Given the description of an element on the screen output the (x, y) to click on. 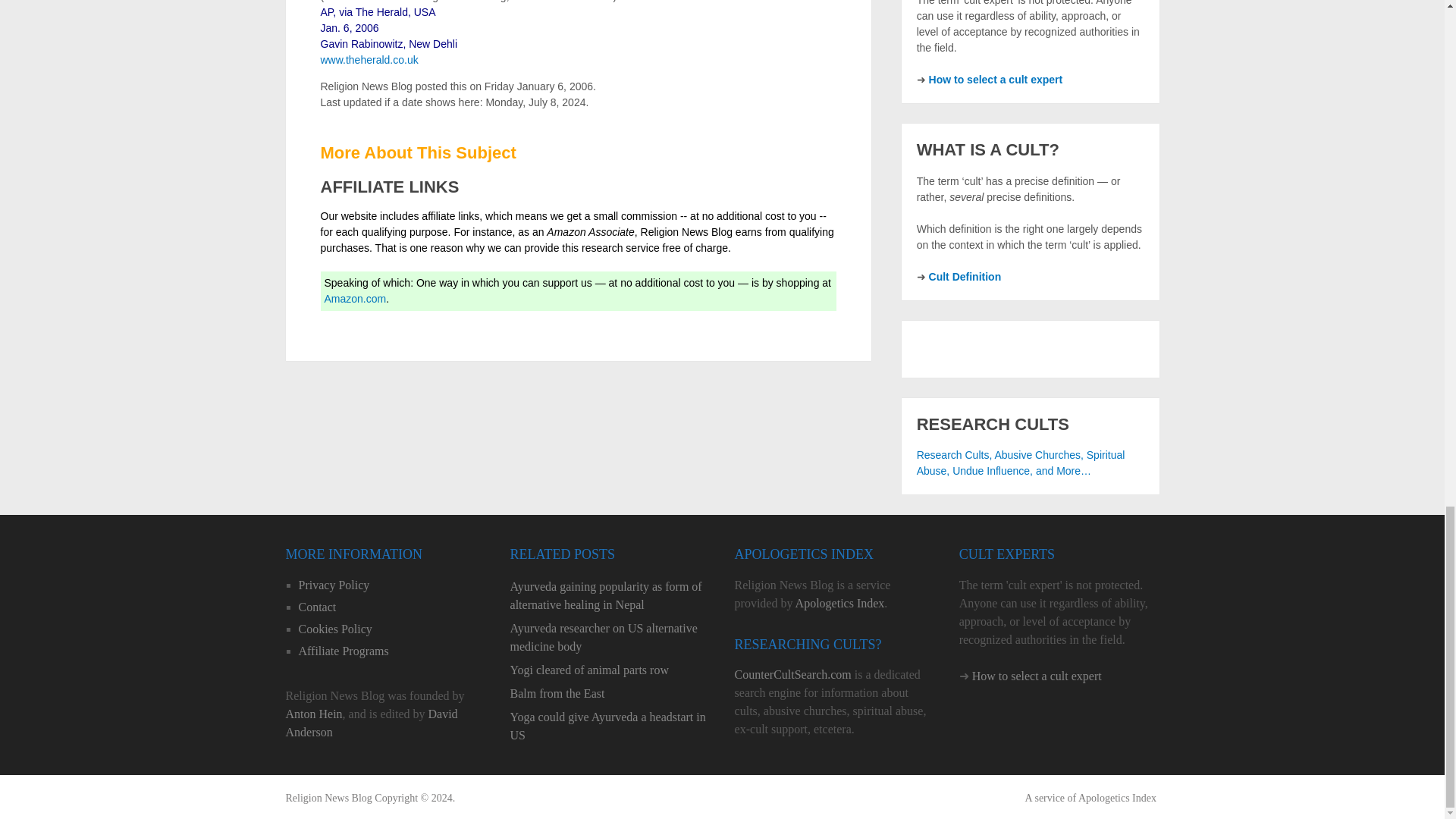
Ayurveda researcher on US alternative medicine body (610, 637)
Balm from the East (610, 693)
How to select a cult expert (995, 79)
Yoga could give Ayurveda a headstart in US (610, 726)
www.theherald.co.uk (368, 60)
Cult Definition (964, 276)
Amazon.com (355, 298)
 Religion news: religious cults, sects, and world religions (328, 797)
Yogi cleared of animal parts row (610, 669)
